Given the description of an element on the screen output the (x, y) to click on. 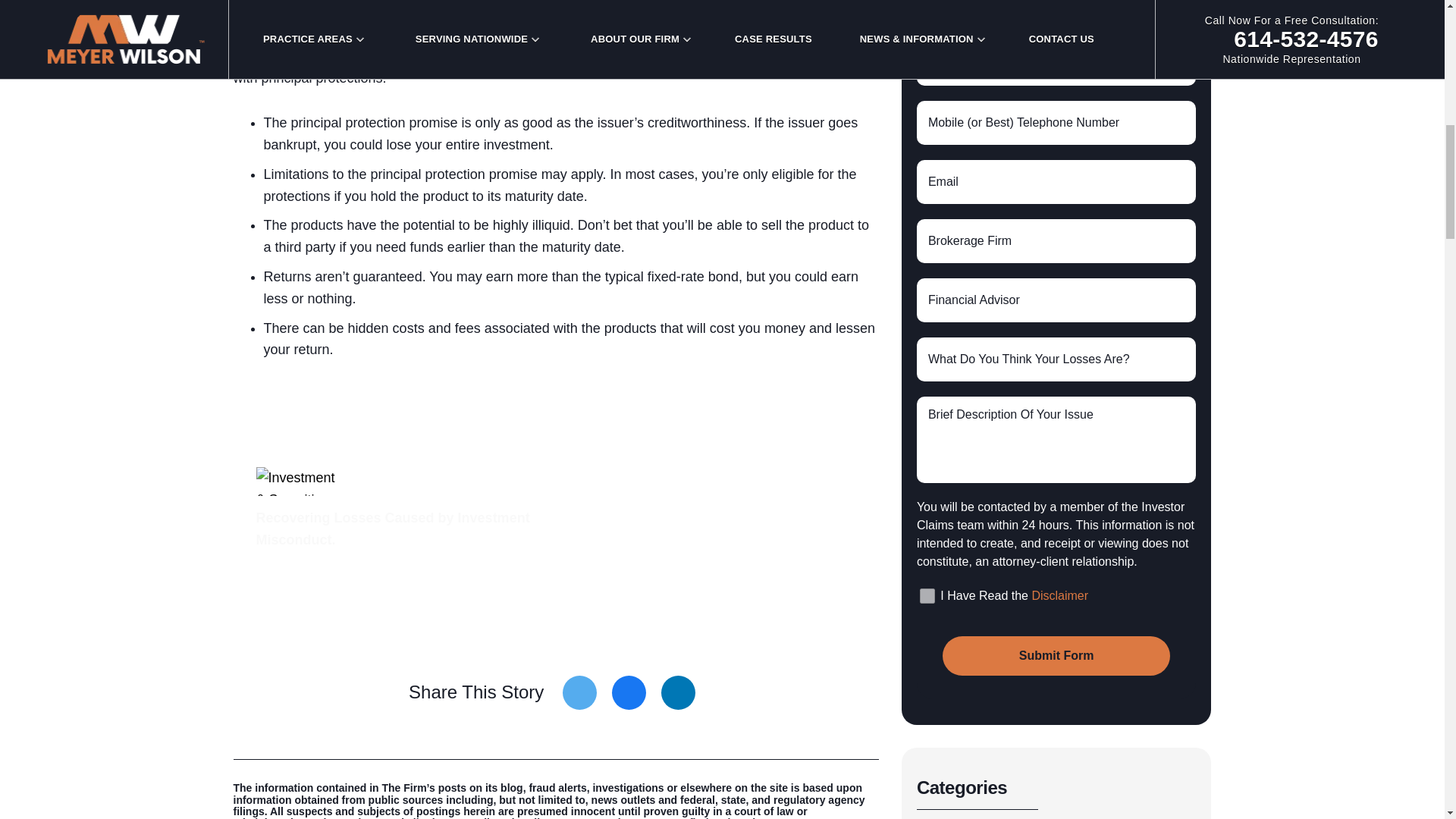
Twitter (579, 692)
Submit Form (1056, 655)
Linkedin (678, 692)
Start Your Free Case Evaluation (403, 600)
Facebook (628, 692)
1 (927, 595)
